Given the description of an element on the screen output the (x, y) to click on. 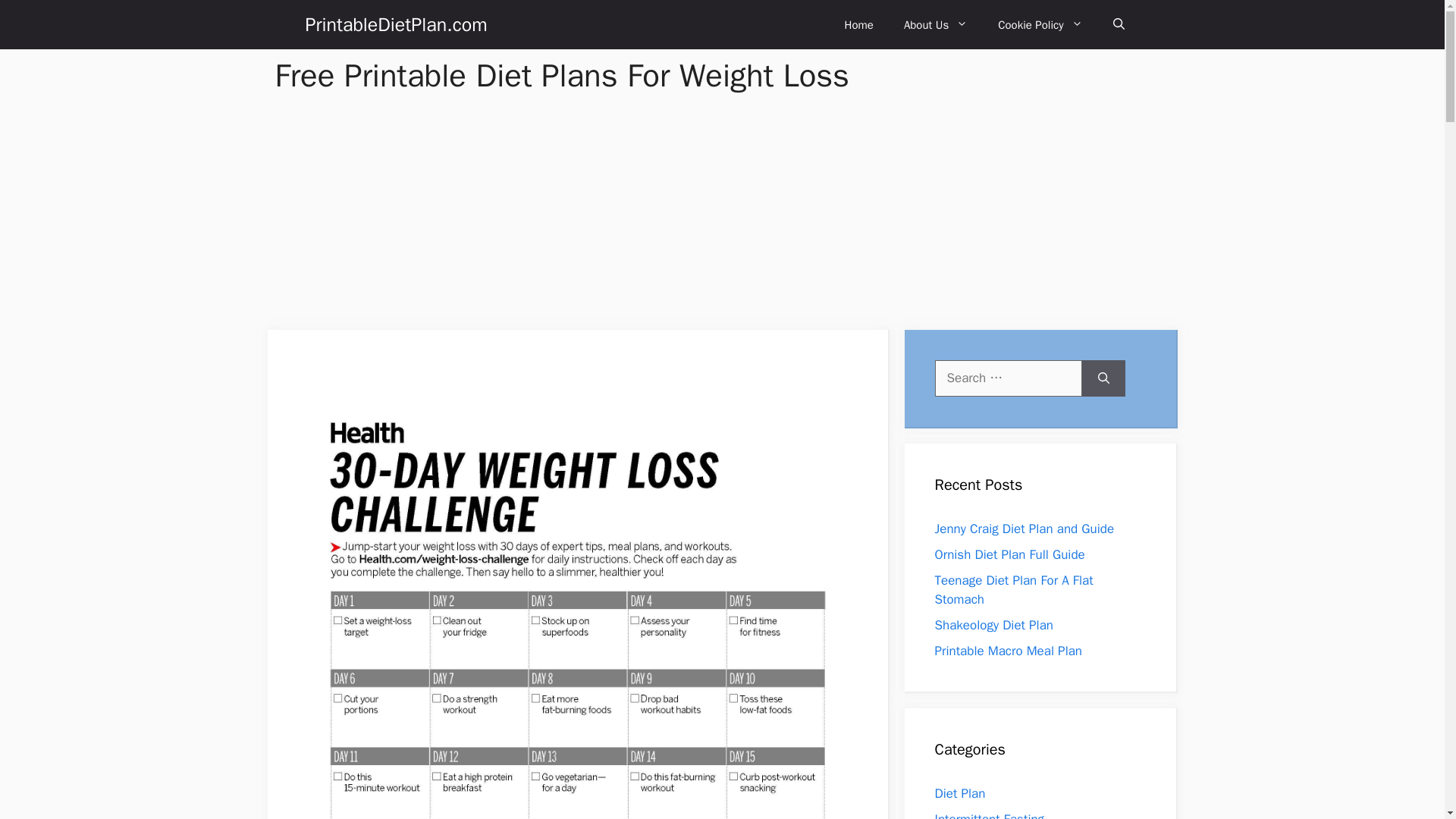
Jenny Craig Diet Plan and Guide (1023, 528)
Search for: (1007, 378)
Shakeology Diet Plan (993, 625)
Intermittent Fasting (988, 815)
Diet Plan (959, 793)
Ornish Diet Plan Full Guide (1009, 554)
Home (858, 23)
PrintableDietPlan.com (395, 24)
Cookie Policy (1039, 23)
About Us (935, 23)
Printable Macro Meal Plan (1007, 650)
Teenage Diet Plan For A Flat Stomach (1013, 590)
